Given the description of an element on the screen output the (x, y) to click on. 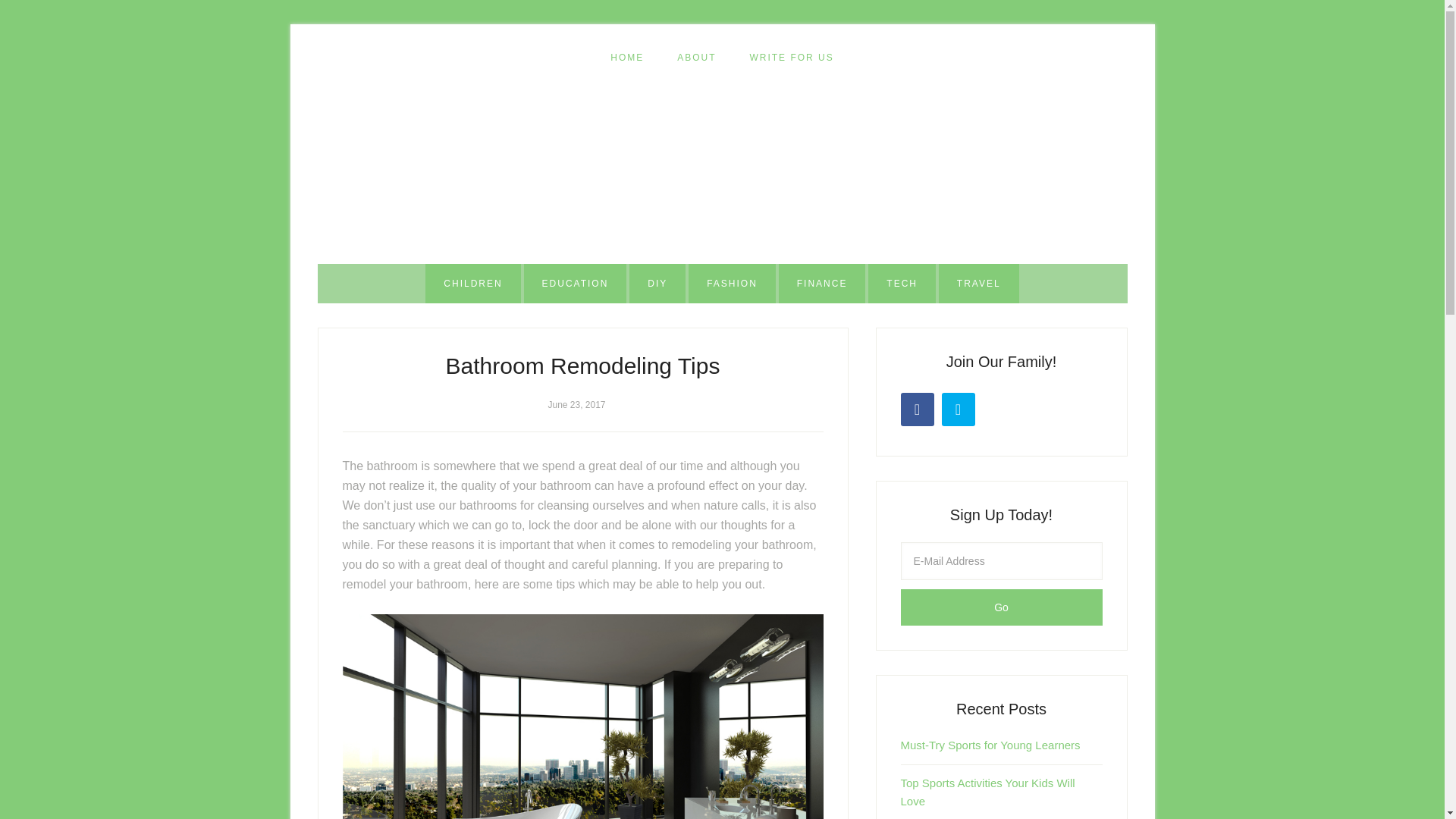
ABOUT (696, 57)
FASHION (732, 283)
DIY (656, 283)
Top Sports Activities Your Kids Will Love (988, 791)
TRAVEL (979, 283)
HOME (627, 57)
TECH (901, 283)
3 Kids and Us (721, 170)
FINANCE (822, 283)
EDUCATION (575, 283)
